Given the description of an element on the screen output the (x, y) to click on. 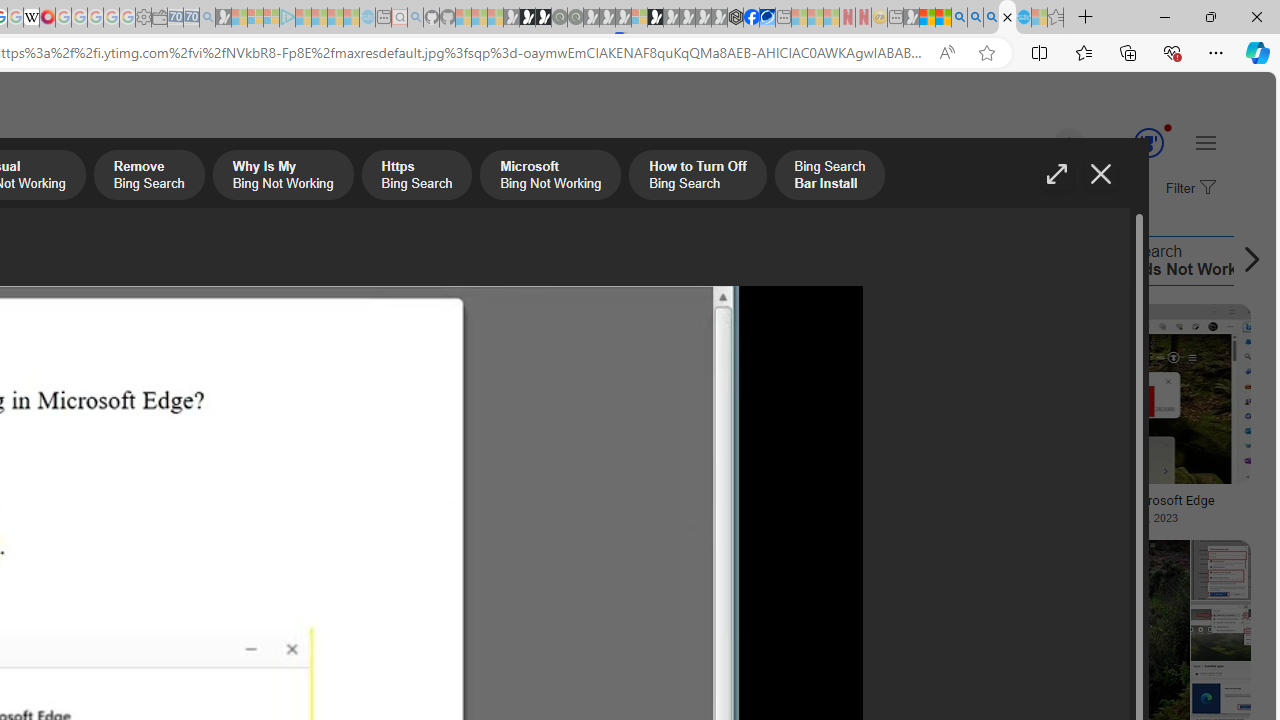
1:19 (649, 322)
Settings and quick links (1205, 142)
White Bing Cherries (134, 493)
